Given the description of an element on the screen output the (x, y) to click on. 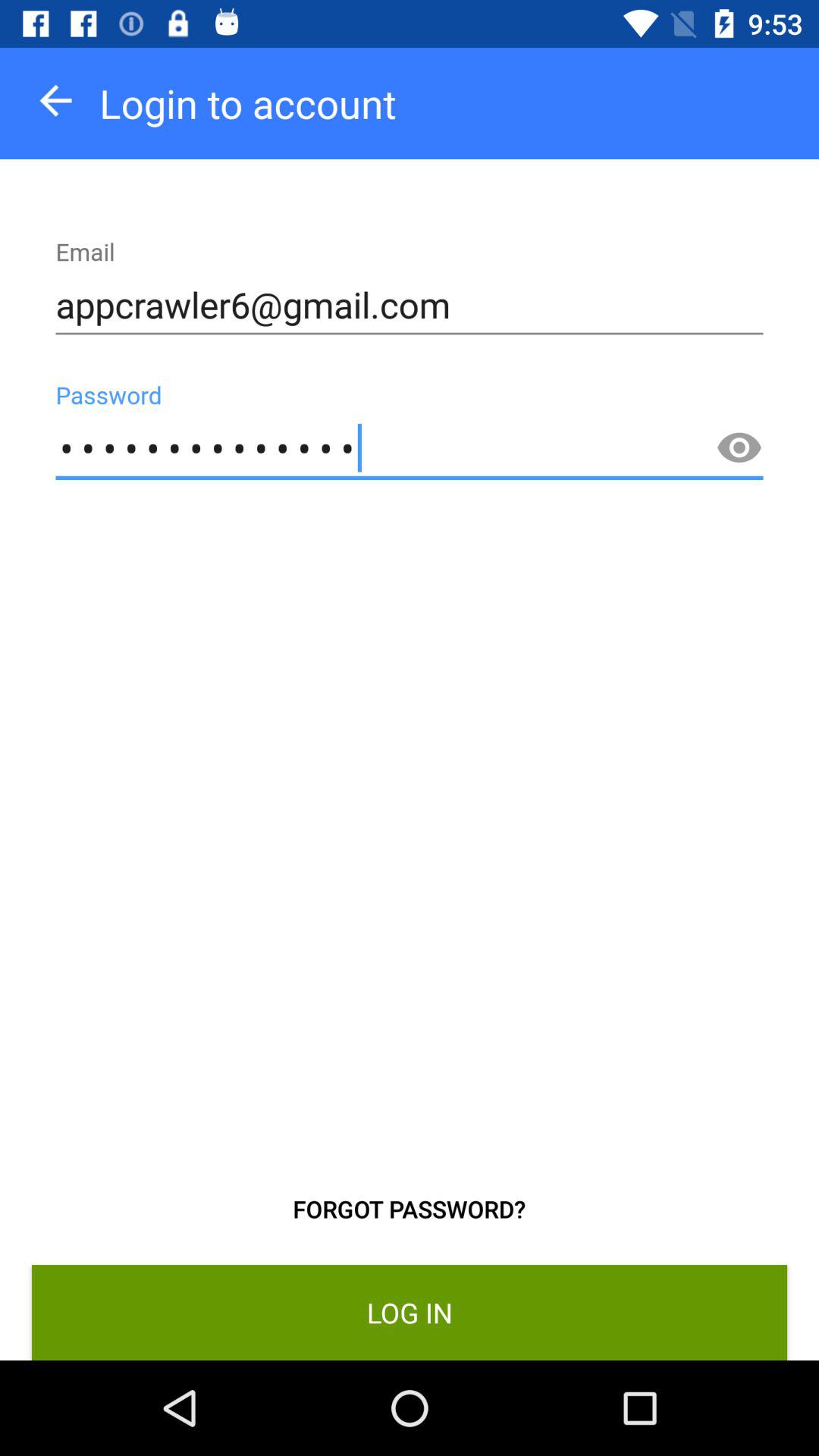
press the item below the appcrawler3116 icon (409, 1208)
